Given the description of an element on the screen output the (x, y) to click on. 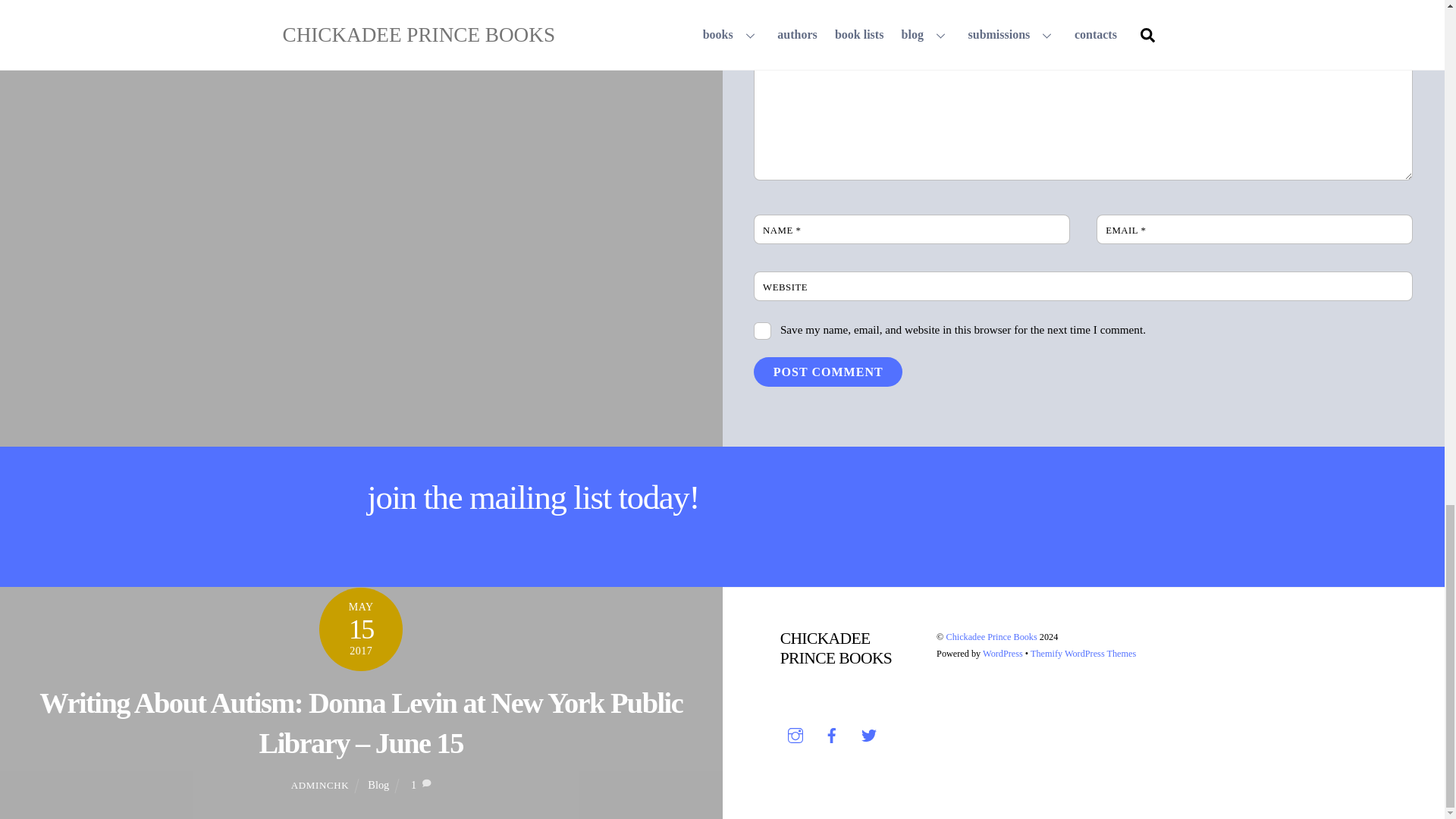
WordPress (1002, 653)
Post Comment (828, 371)
yes (762, 330)
Post Comment (828, 371)
CHICKADEE PRINCE BOOKS (836, 648)
Chickadee Prince Books (836, 648)
Chickadee Prince Books (990, 636)
